Given the description of an element on the screen output the (x, y) to click on. 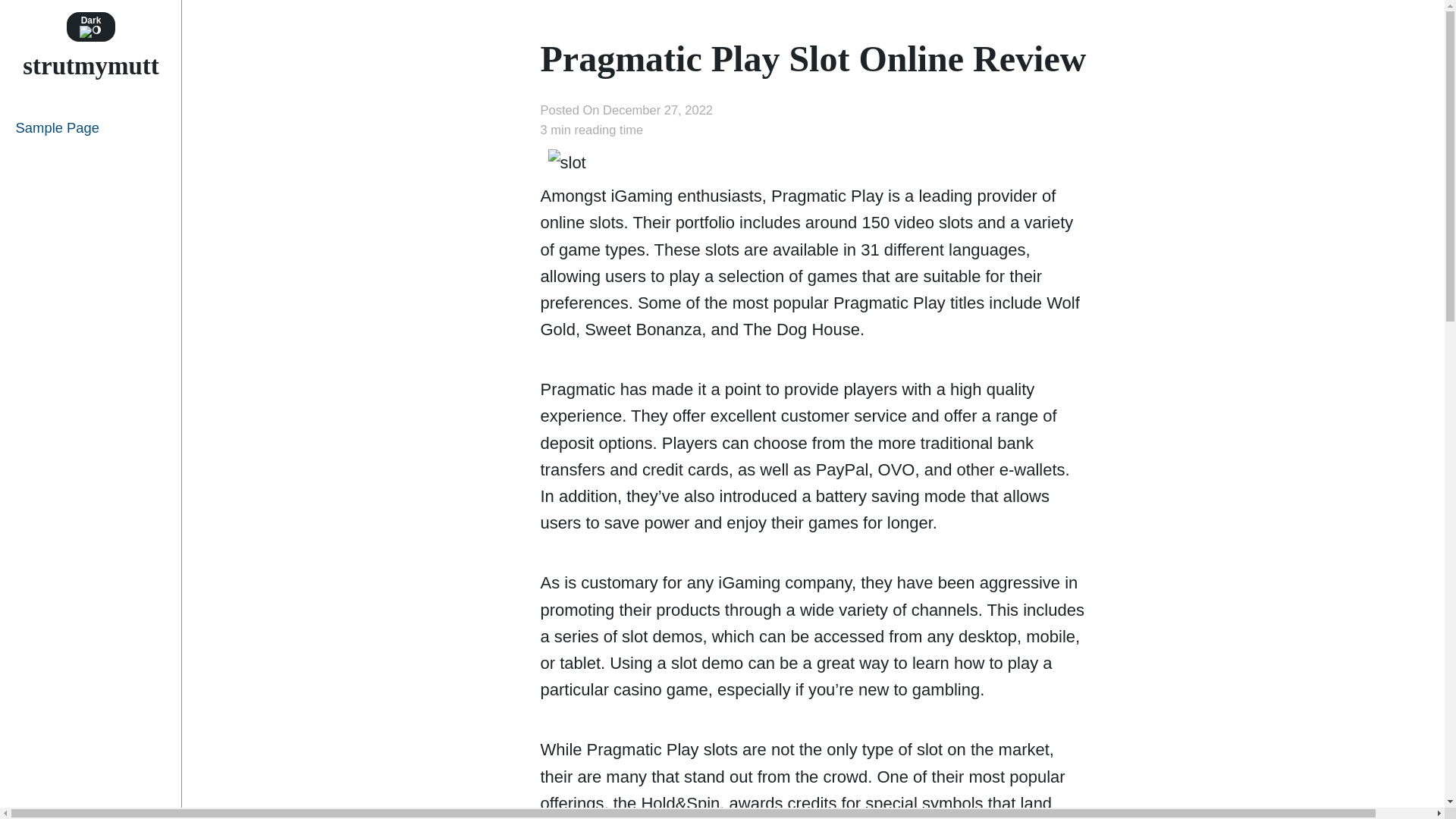
strutmymutt (90, 65)
Sample Page (90, 127)
